Given the description of an element on the screen output the (x, y) to click on. 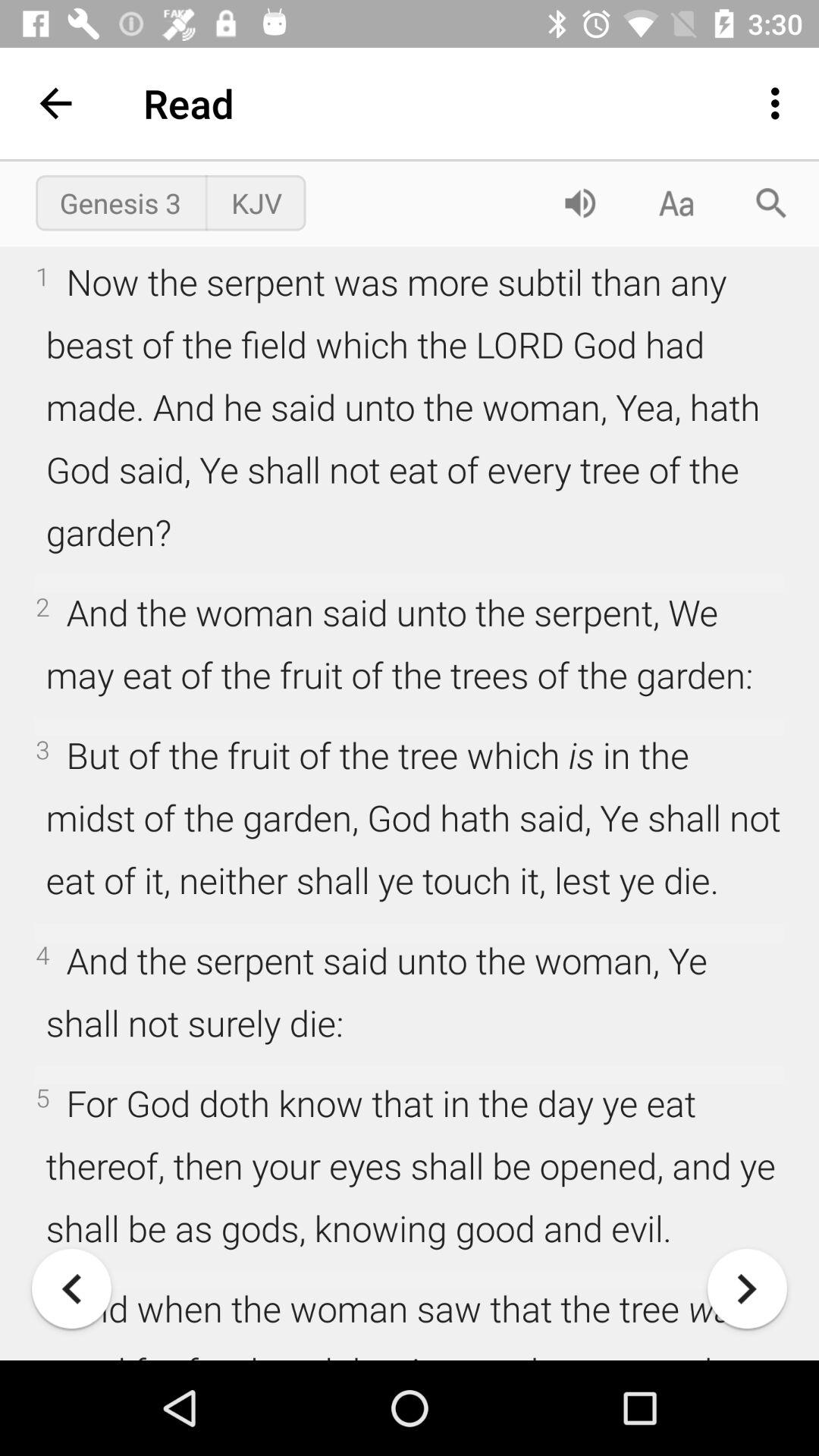
press item above 1 now the icon (256, 202)
